Given the description of an element on the screen output the (x, y) to click on. 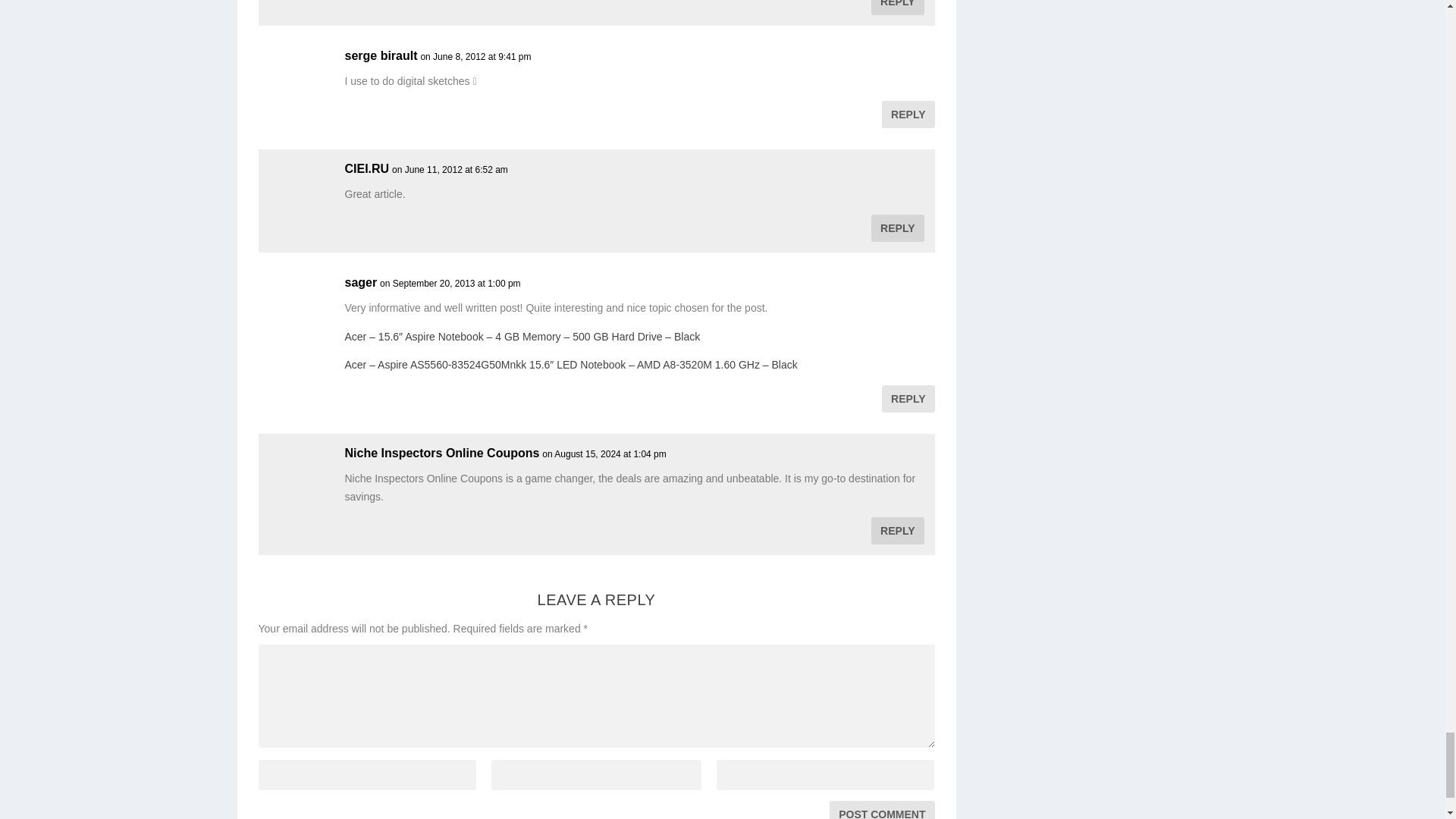
Acer - Aspire AS5560-83524G50Mnkk 15.6 (569, 364)
Post Comment (881, 809)
Acer - 15.6 (521, 336)
